Given the description of an element on the screen output the (x, y) to click on. 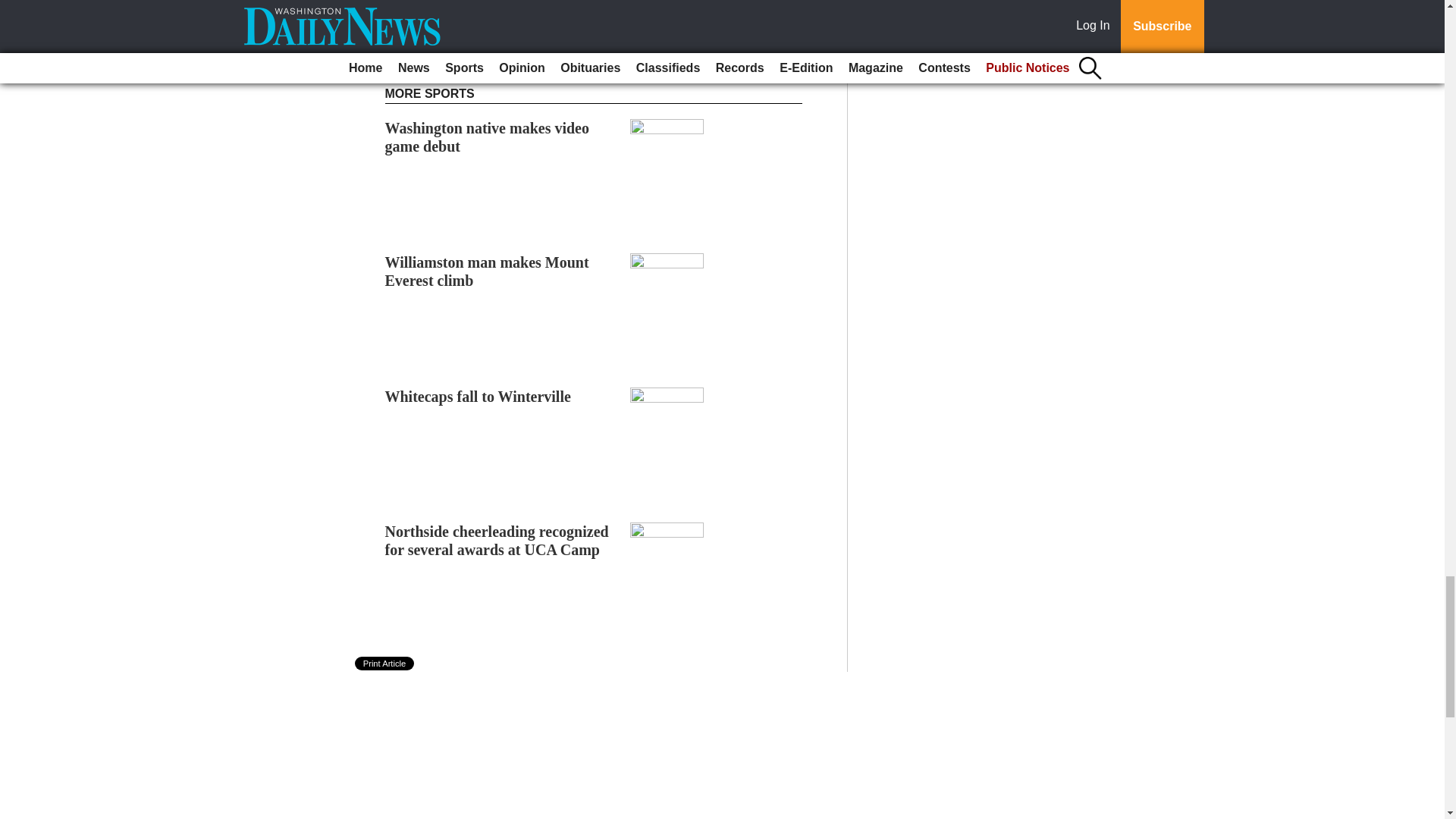
Whitecaps fall to Winterville (477, 396)
Print Article (384, 663)
Washington native makes video game debut (487, 136)
Washington native makes video game debut (487, 136)
Whitecaps fall to Winterville (477, 396)
Williamston man makes Mount Everest climb (487, 271)
Williamston man makes Mount Everest climb (487, 271)
